Given the description of an element on the screen output the (x, y) to click on. 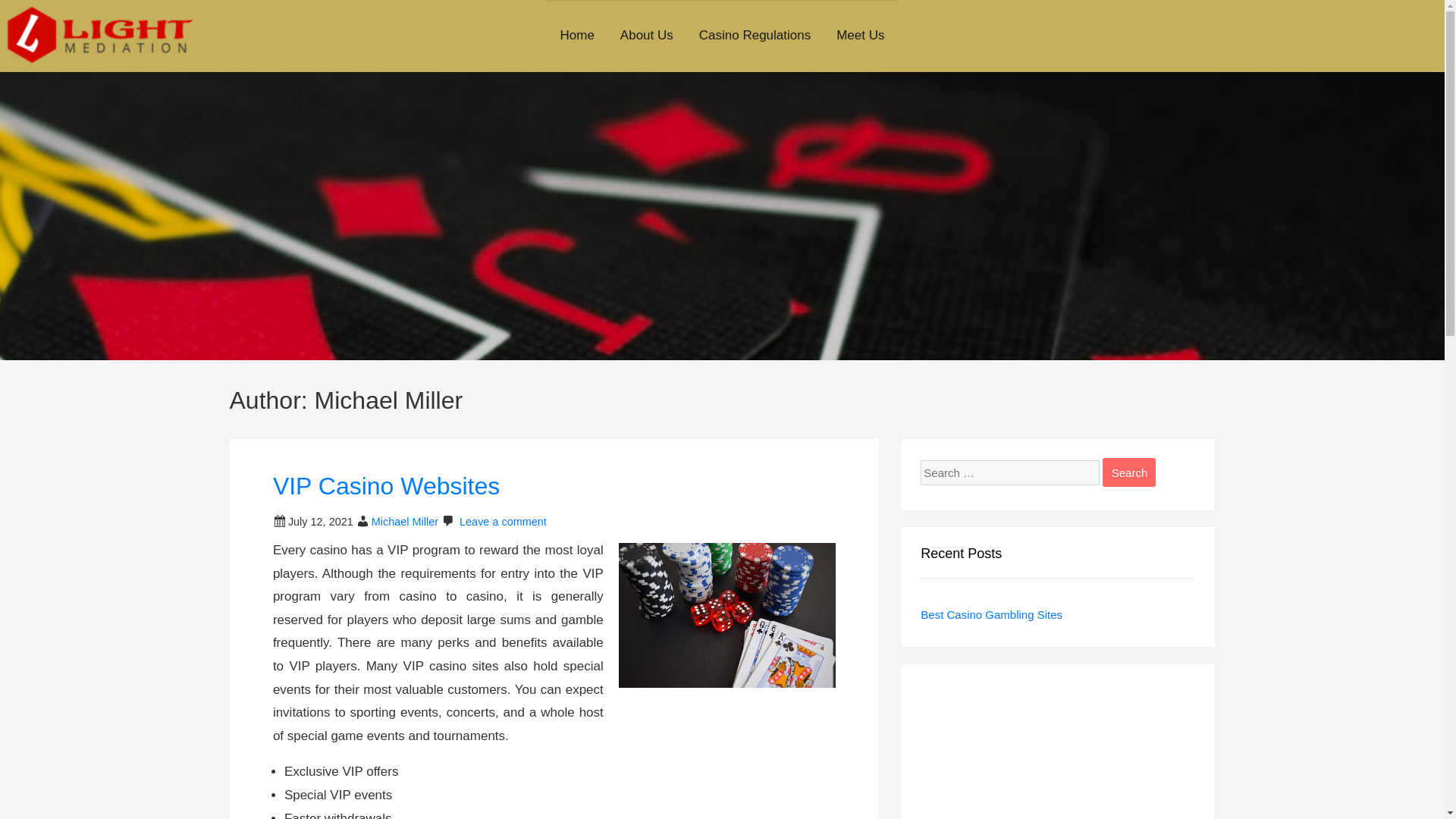
Search (1129, 471)
About Us (646, 36)
Leave a comment (503, 521)
Home (577, 36)
Search (1129, 471)
VIP Casino Websites (386, 485)
YouTube video player (1057, 751)
Best Casino Gambling Sites (991, 614)
Meet Us (860, 36)
Posts by Michael Miller (404, 521)
Michael Miller (404, 521)
Search (1129, 471)
Casino Regulations (754, 36)
